Given the description of an element on the screen output the (x, y) to click on. 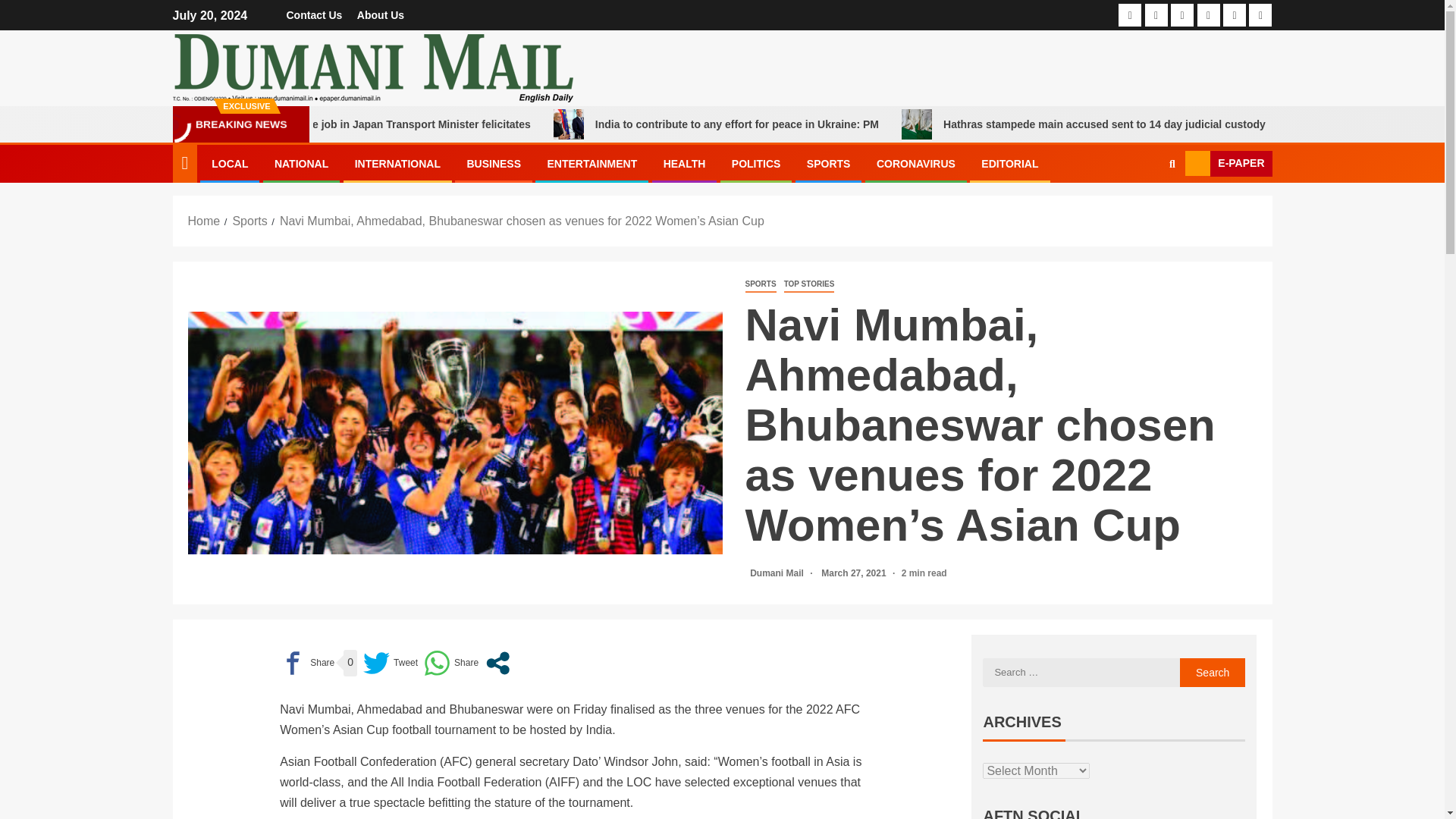
Share on Facebook (306, 663)
Search (1212, 672)
LOCAL (229, 163)
HEALTH (684, 163)
Tweet (389, 663)
Search (1142, 209)
Open modal social networks (497, 663)
India to contribute to any effort for peace in Ukraine: PM (858, 123)
CORONAVIRUS (915, 163)
Search (1212, 672)
INTERNATIONAL (398, 163)
SPORTS (828, 163)
NATIONAL (302, 163)
SPORTS (760, 284)
POLITICS (756, 163)
